Given the description of an element on the screen output the (x, y) to click on. 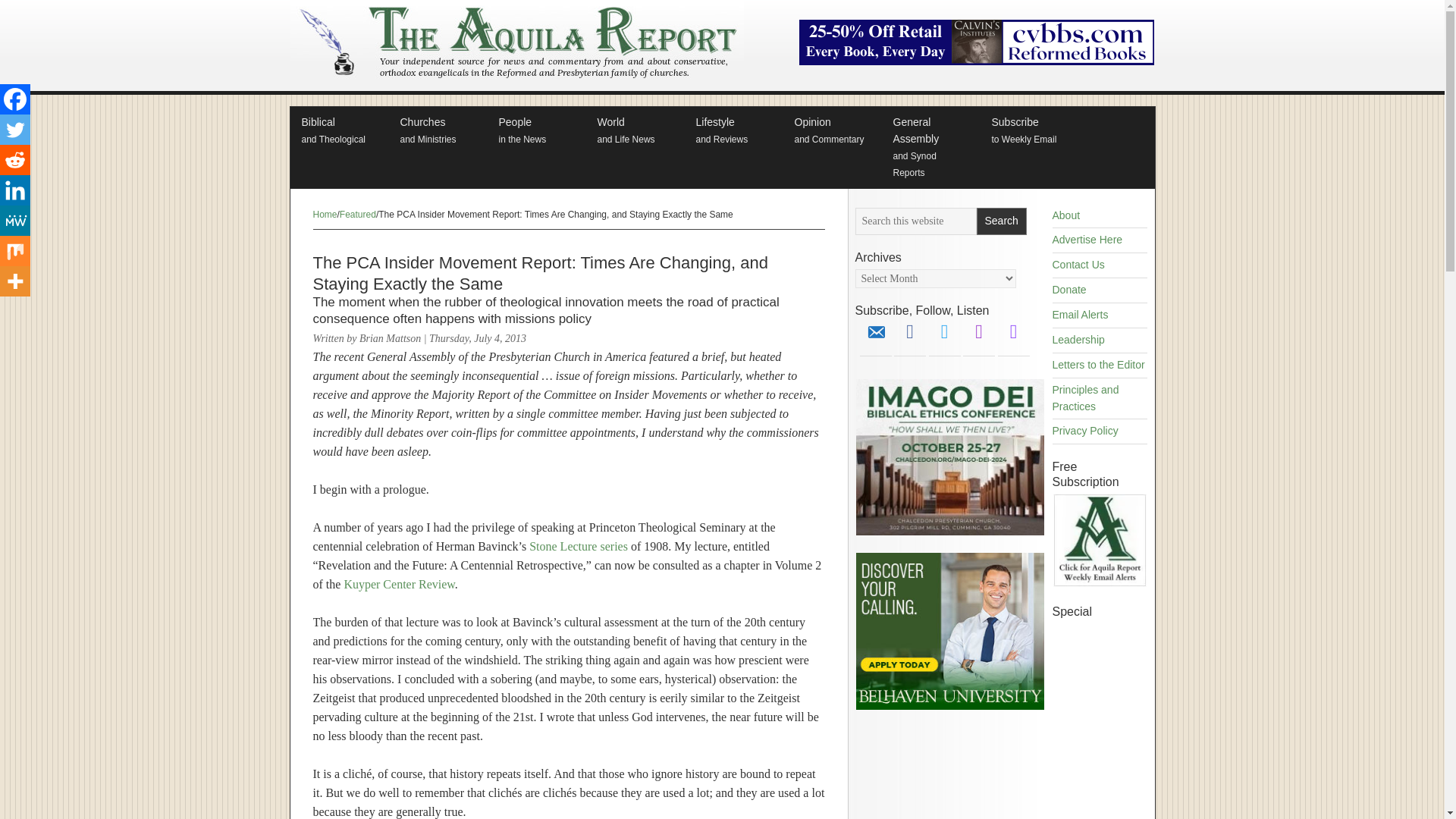
Linkedin (15, 190)
Click to subscribe to Aquila Report email alerts (437, 131)
Search (1098, 583)
Mix (338, 131)
Facebook (1001, 221)
Twitter (15, 250)
